Given the description of an element on the screen output the (x, y) to click on. 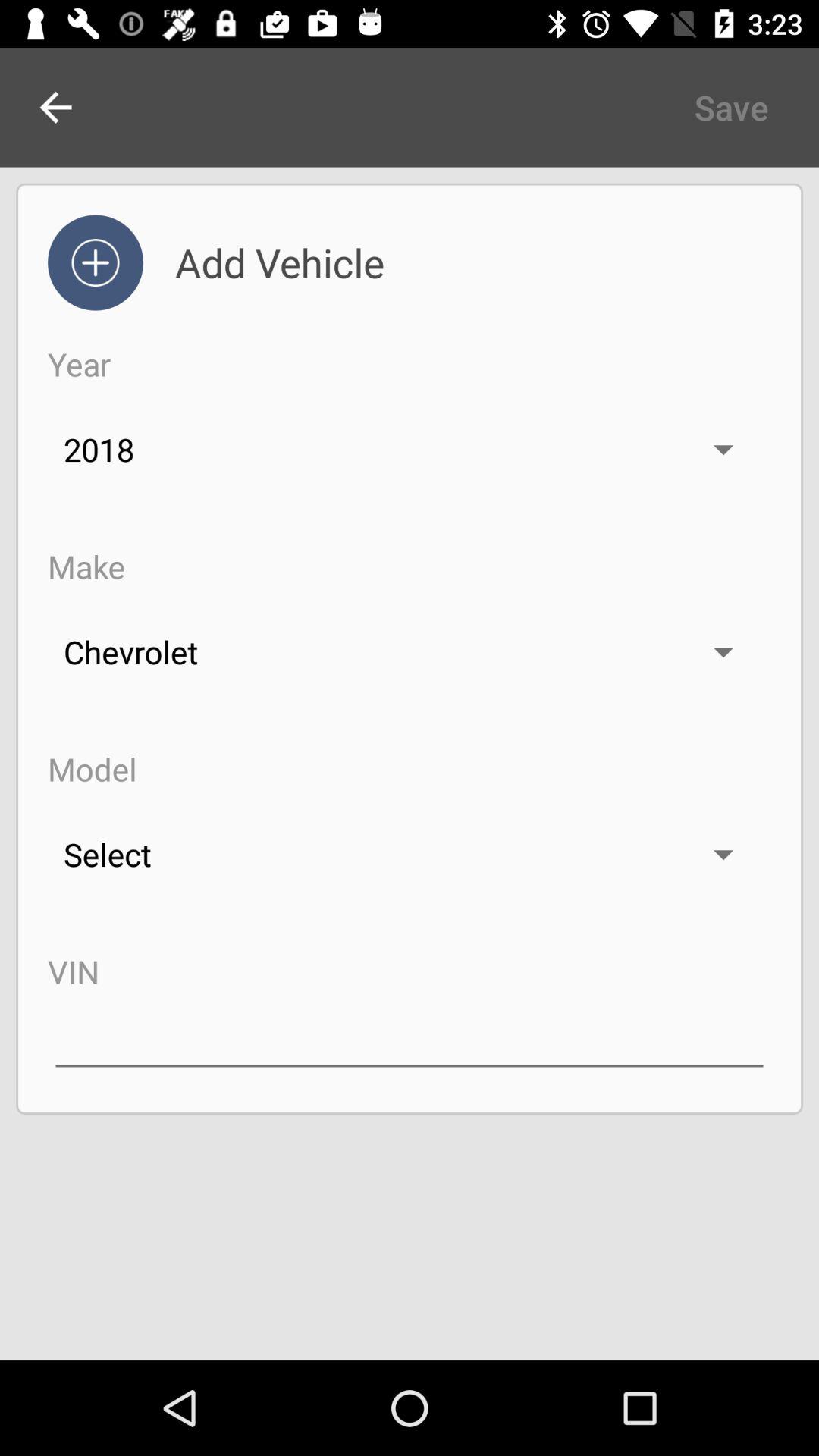
input vin number line (409, 1037)
